Given the description of an element on the screen output the (x, y) to click on. 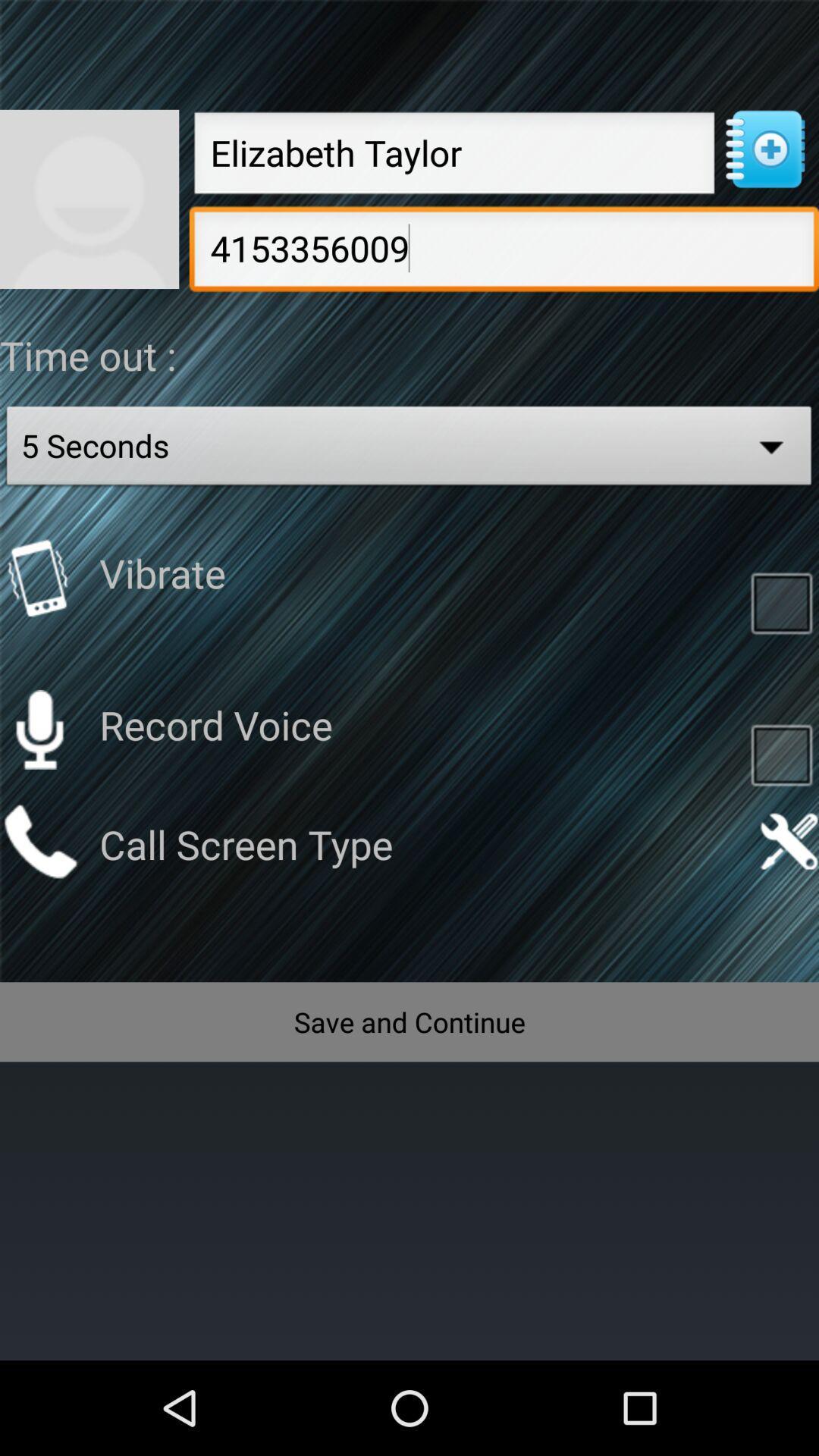
choose screen type (39, 841)
